Given the description of an element on the screen output the (x, y) to click on. 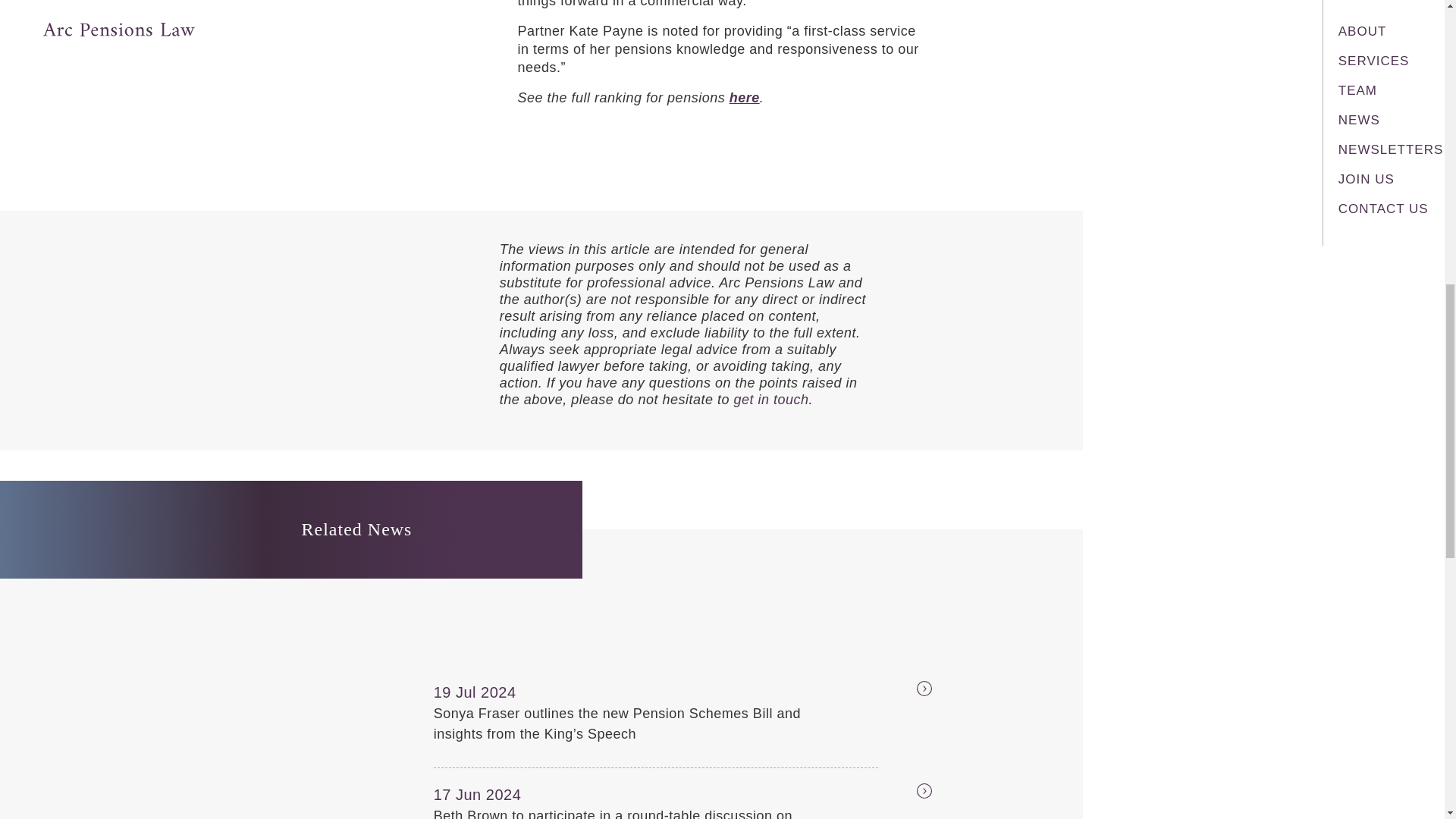
Go (907, 690)
19 Jul 2024 (506, 691)
get in touch (770, 399)
17 Jun 2024 (506, 793)
Go (907, 792)
here (744, 97)
